Given the description of an element on the screen output the (x, y) to click on. 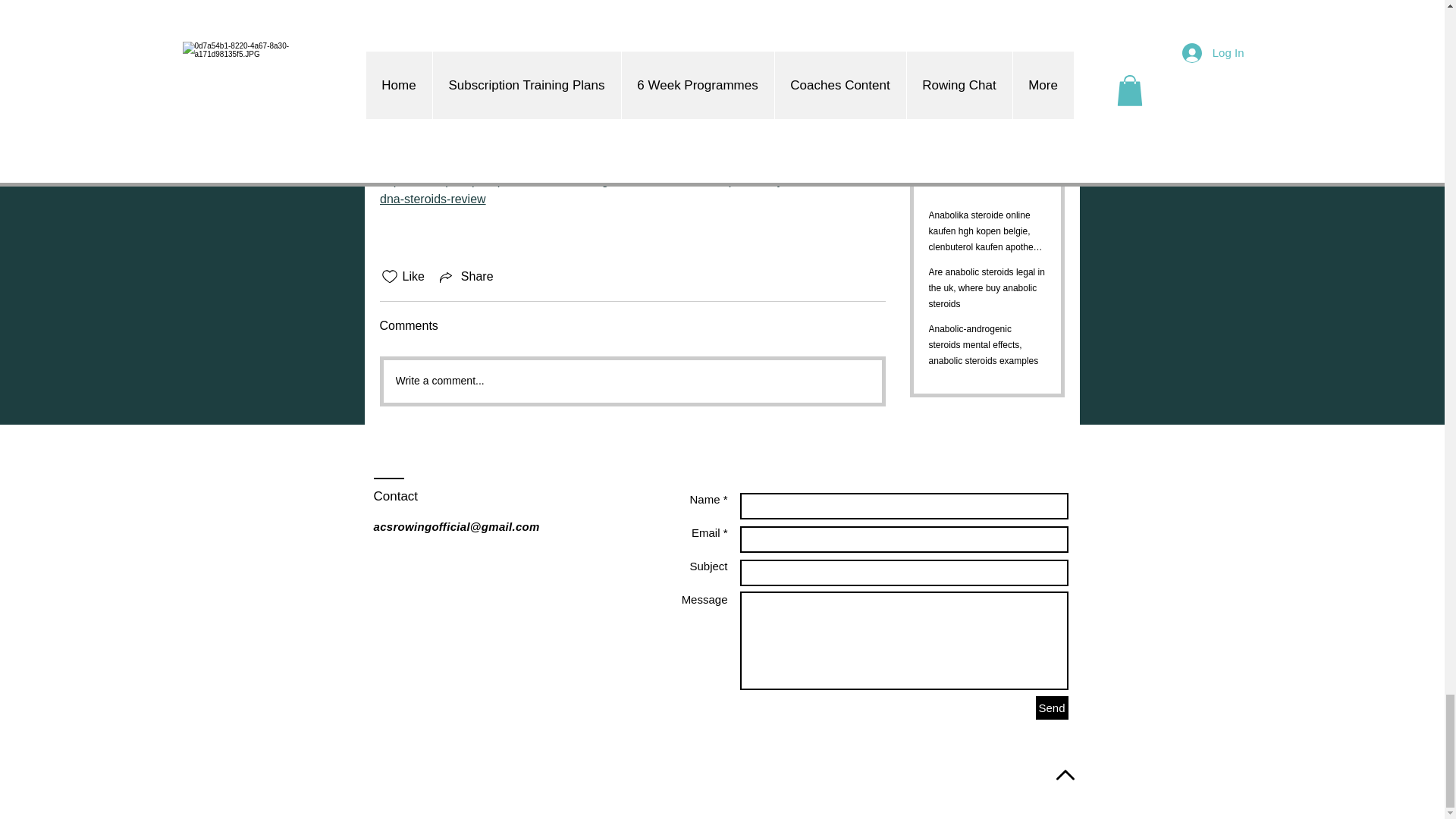
Share (464, 276)
Write a comment... (633, 381)
Send (1051, 707)
